Given the description of an element on the screen output the (x, y) to click on. 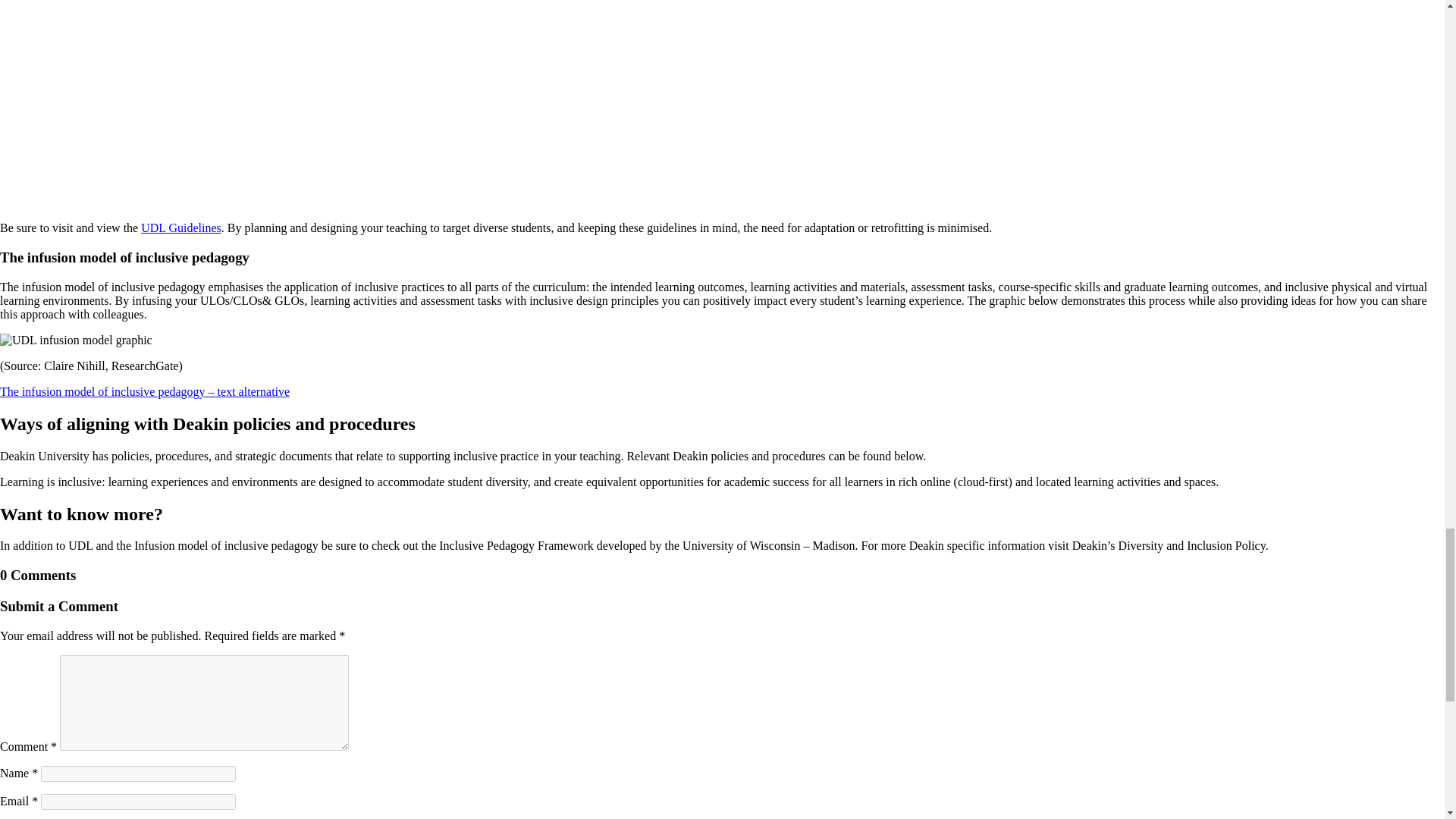
UDL model (76, 340)
